Given the description of an element on the screen output the (x, y) to click on. 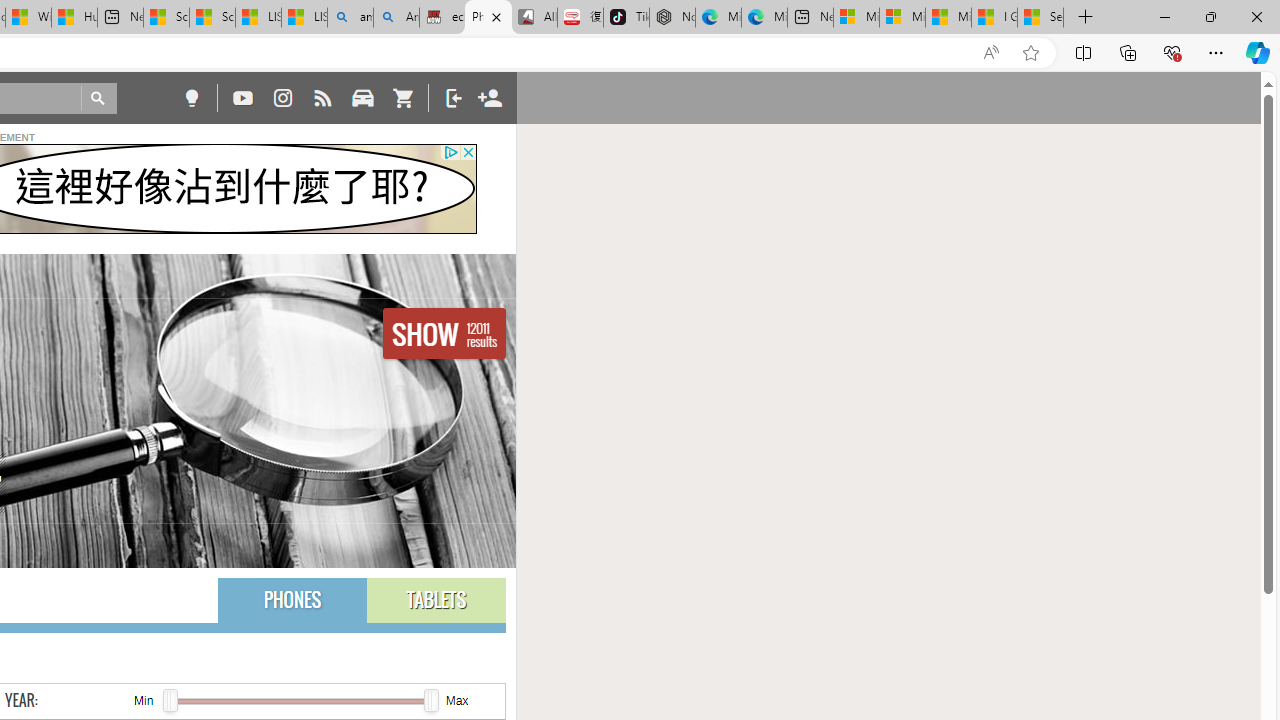
Show (443, 333)
Go (98, 97)
